Given the description of an element on the screen output the (x, y) to click on. 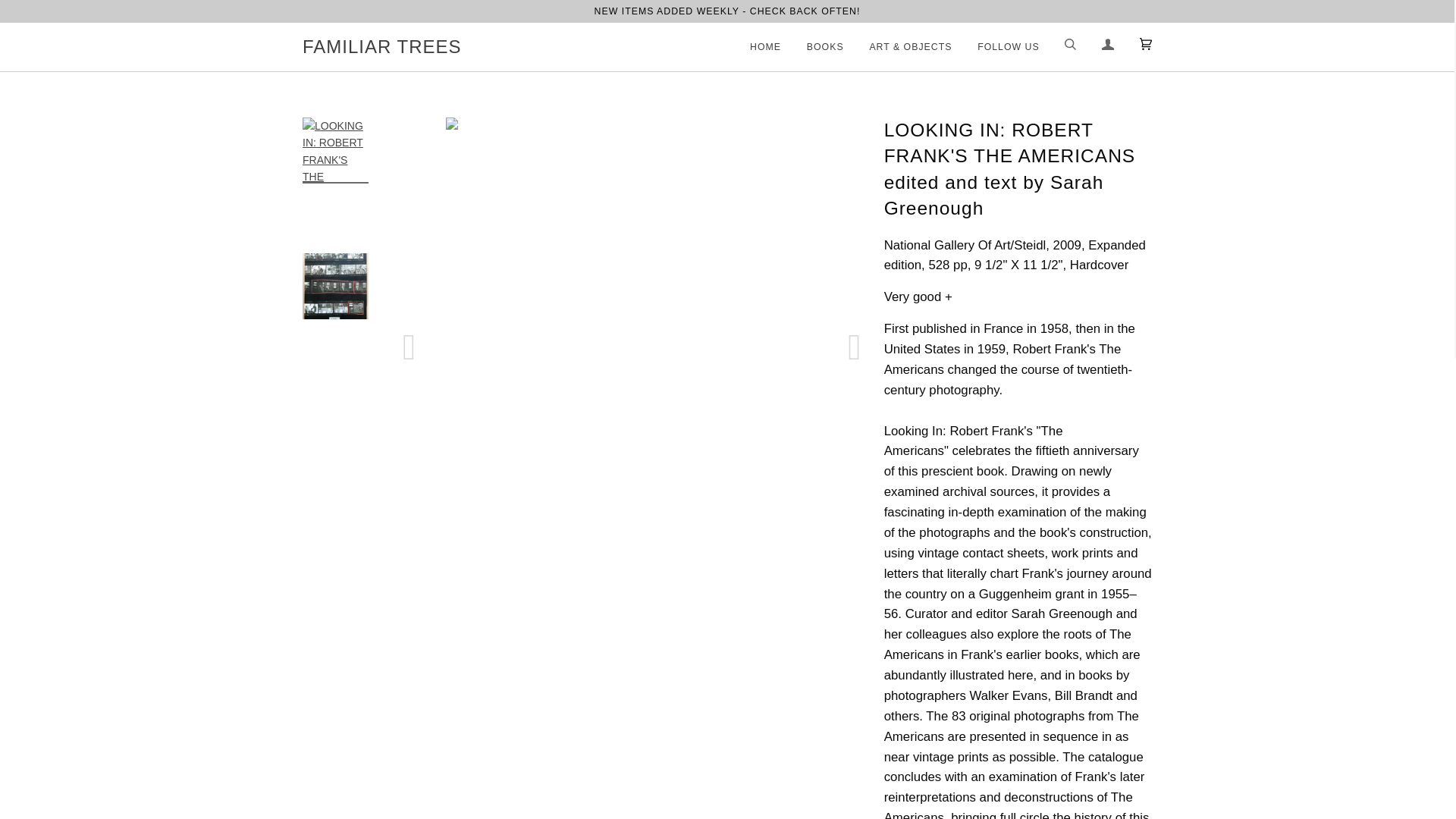
BOOKS (814, 47)
FOLLOW US (997, 47)
FAMILIAR TREES (381, 46)
